Given the description of an element on the screen output the (x, y) to click on. 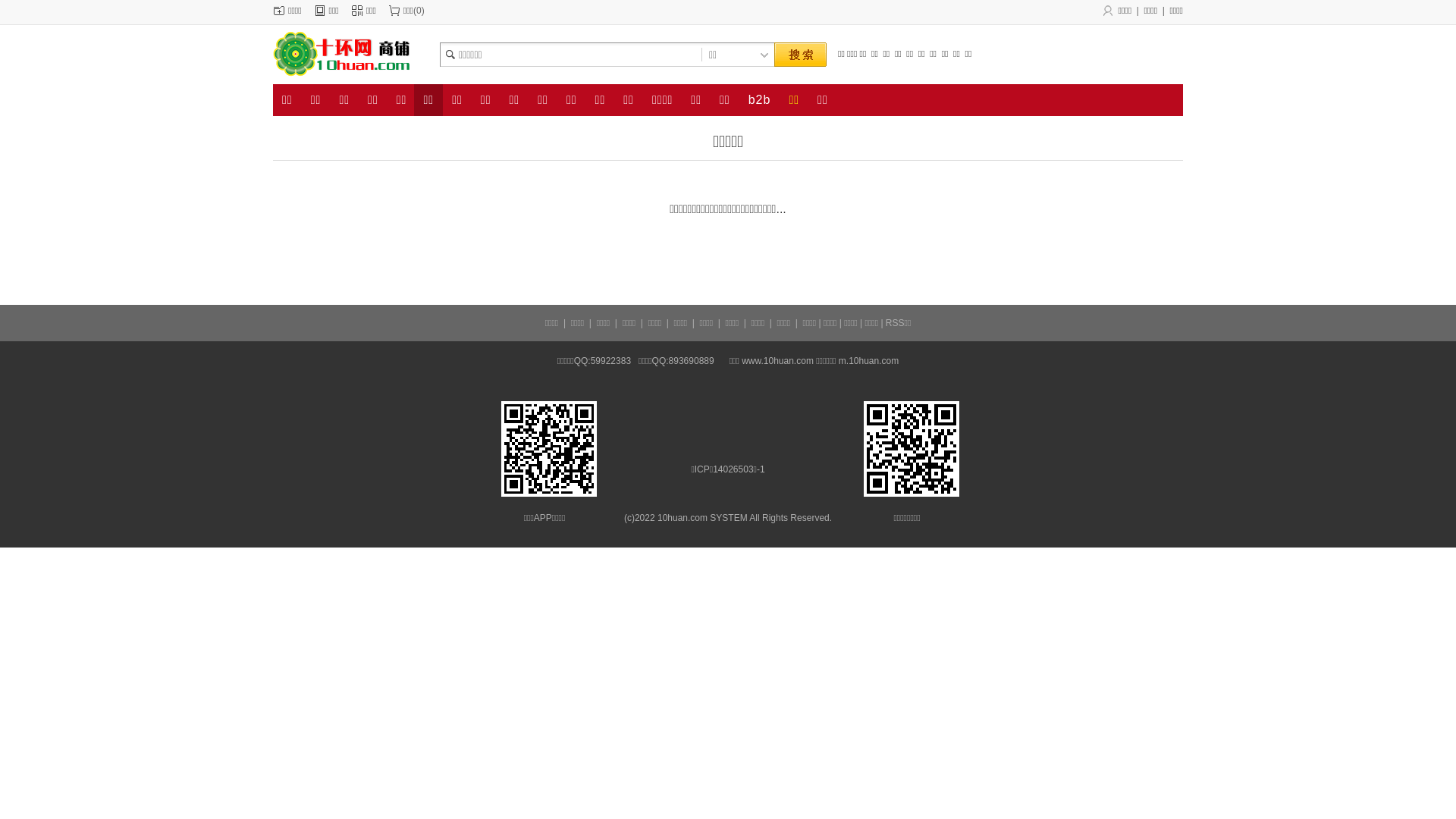
www.10huan.com Element type: text (777, 360)
  Element type: text (799, 54)
b2b Element type: text (759, 100)
m.10huan.com Element type: text (868, 360)
